Given the description of an element on the screen output the (x, y) to click on. 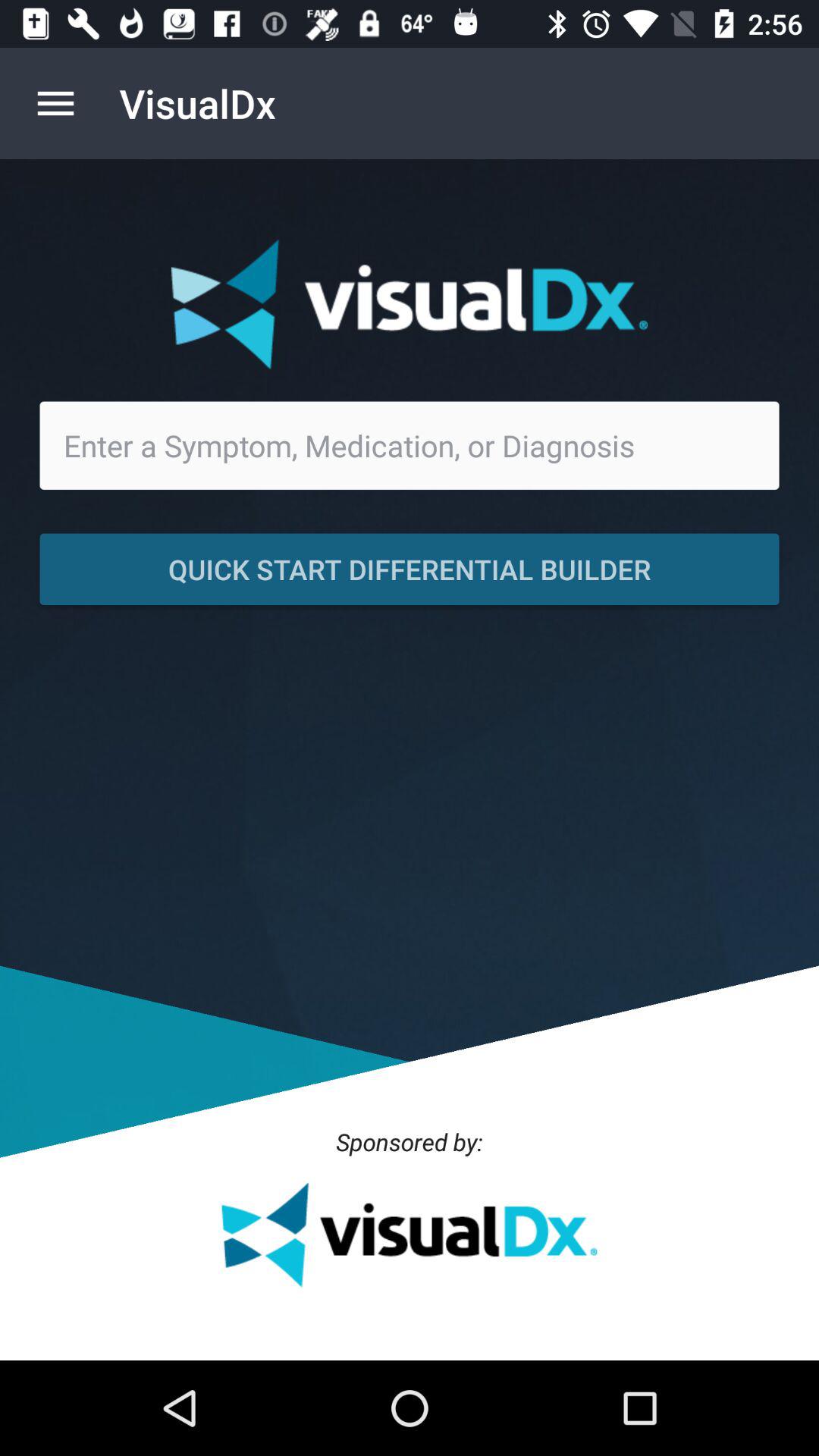
input box (409, 445)
